Given the description of an element on the screen output the (x, y) to click on. 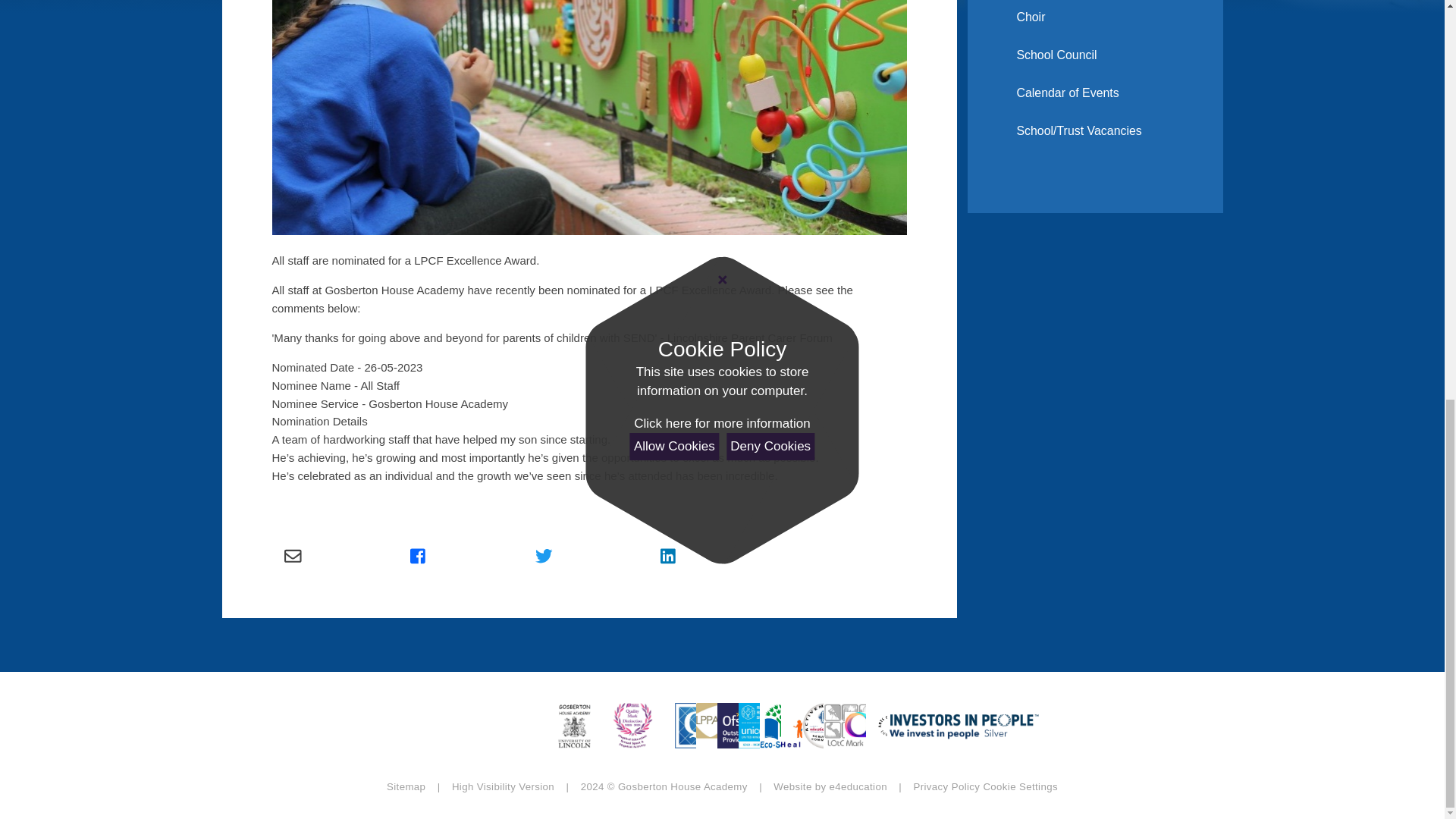
Cookie Settings (1020, 786)
